Given the description of an element on the screen output the (x, y) to click on. 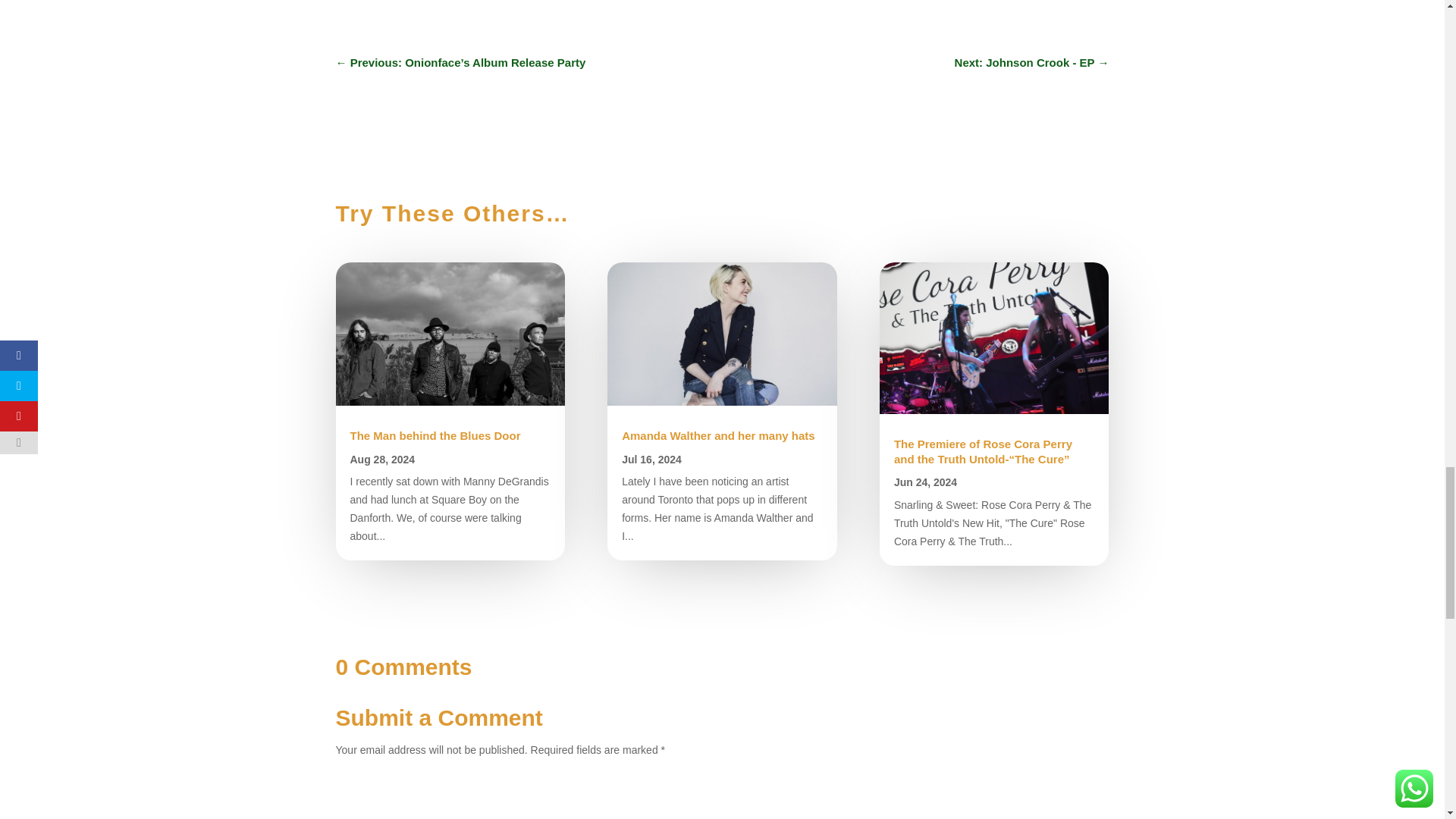
Advertisement (721, 6)
The Man behind the Blues Door (435, 435)
Amanda Walther and her many hats (718, 435)
